Given the description of an element on the screen output the (x, y) to click on. 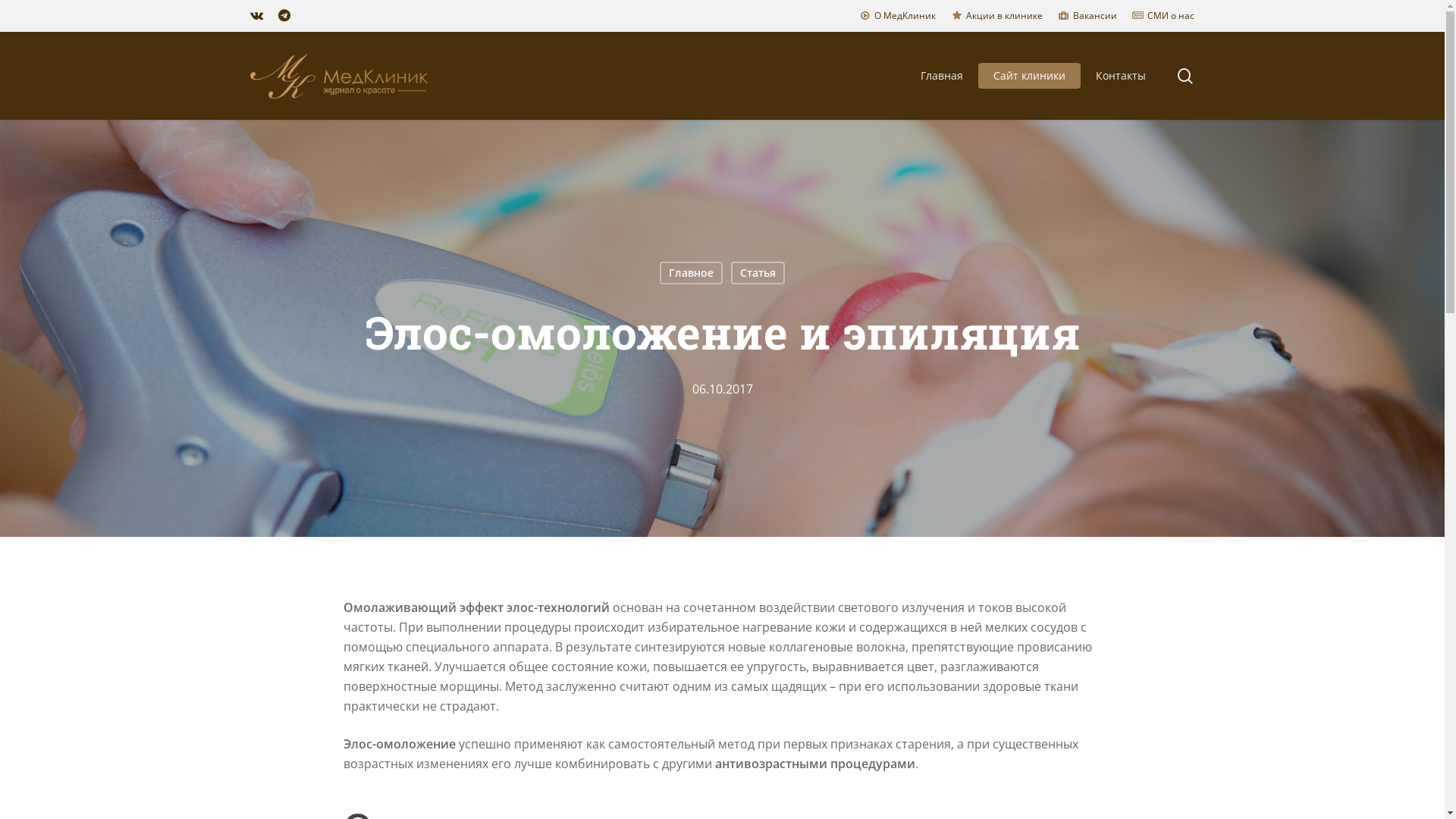
vk Element type: text (256, 15)
search Element type: text (1185, 76)
telegram Element type: text (284, 15)
